Given the description of an element on the screen output the (x, y) to click on. 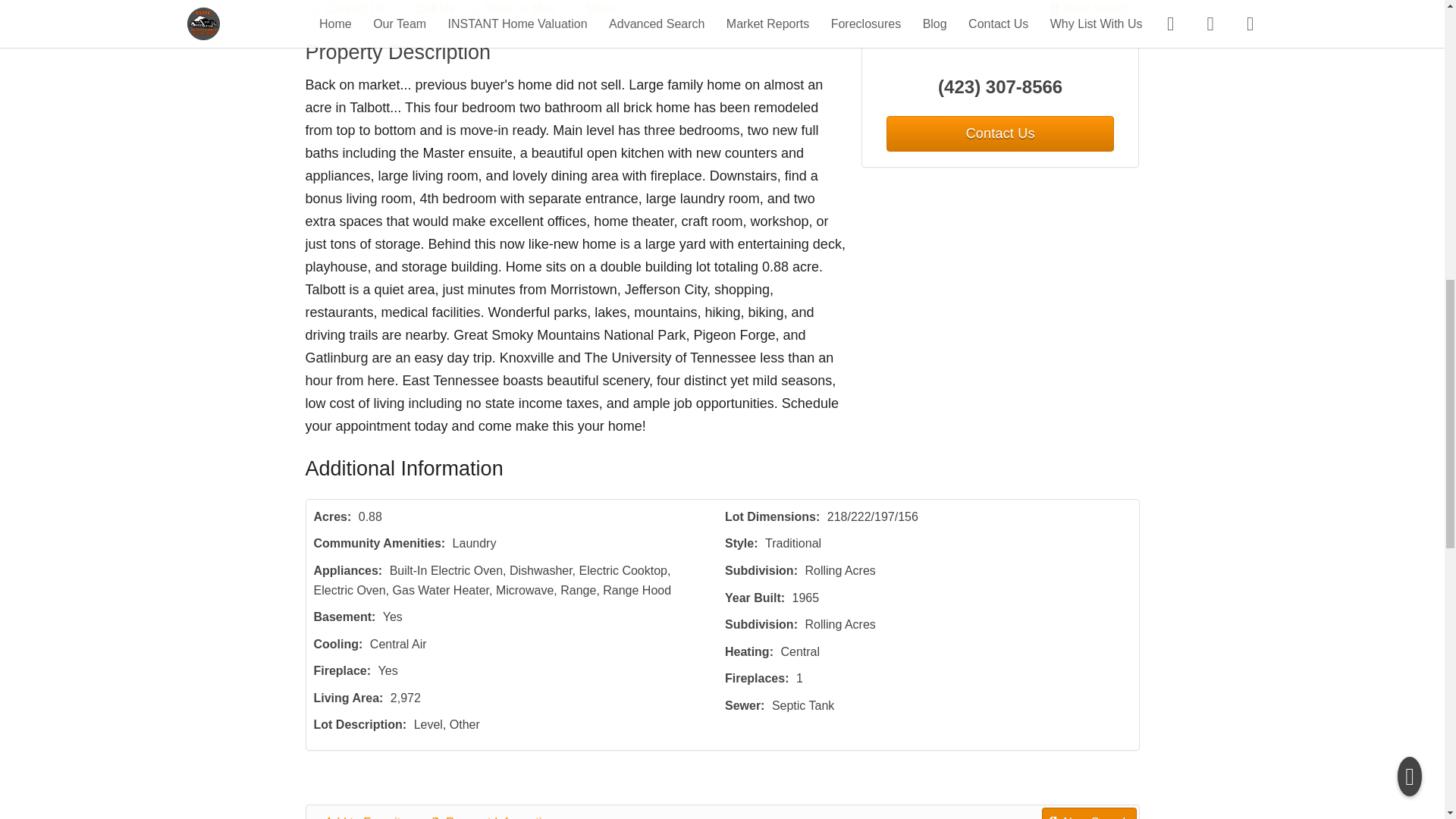
Contact Us (357, 10)
Call Us (437, 10)
New Search (1090, 10)
View on Map (521, 10)
Share (603, 10)
